Given the description of an element on the screen output the (x, y) to click on. 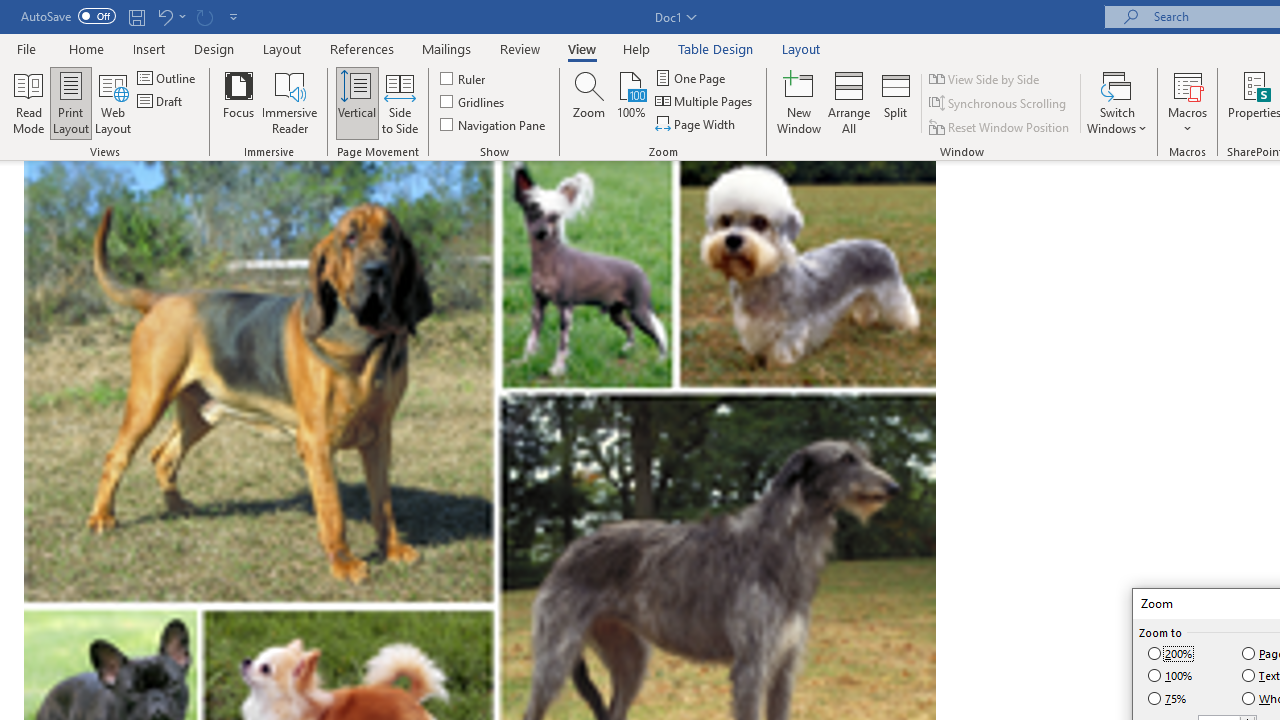
Navigation Pane (493, 124)
Reset Window Position (1000, 126)
Focus (238, 102)
Gridlines (473, 101)
Undo Row Height Spinner (164, 15)
100% (630, 102)
100% (1171, 675)
